Given the description of an element on the screen output the (x, y) to click on. 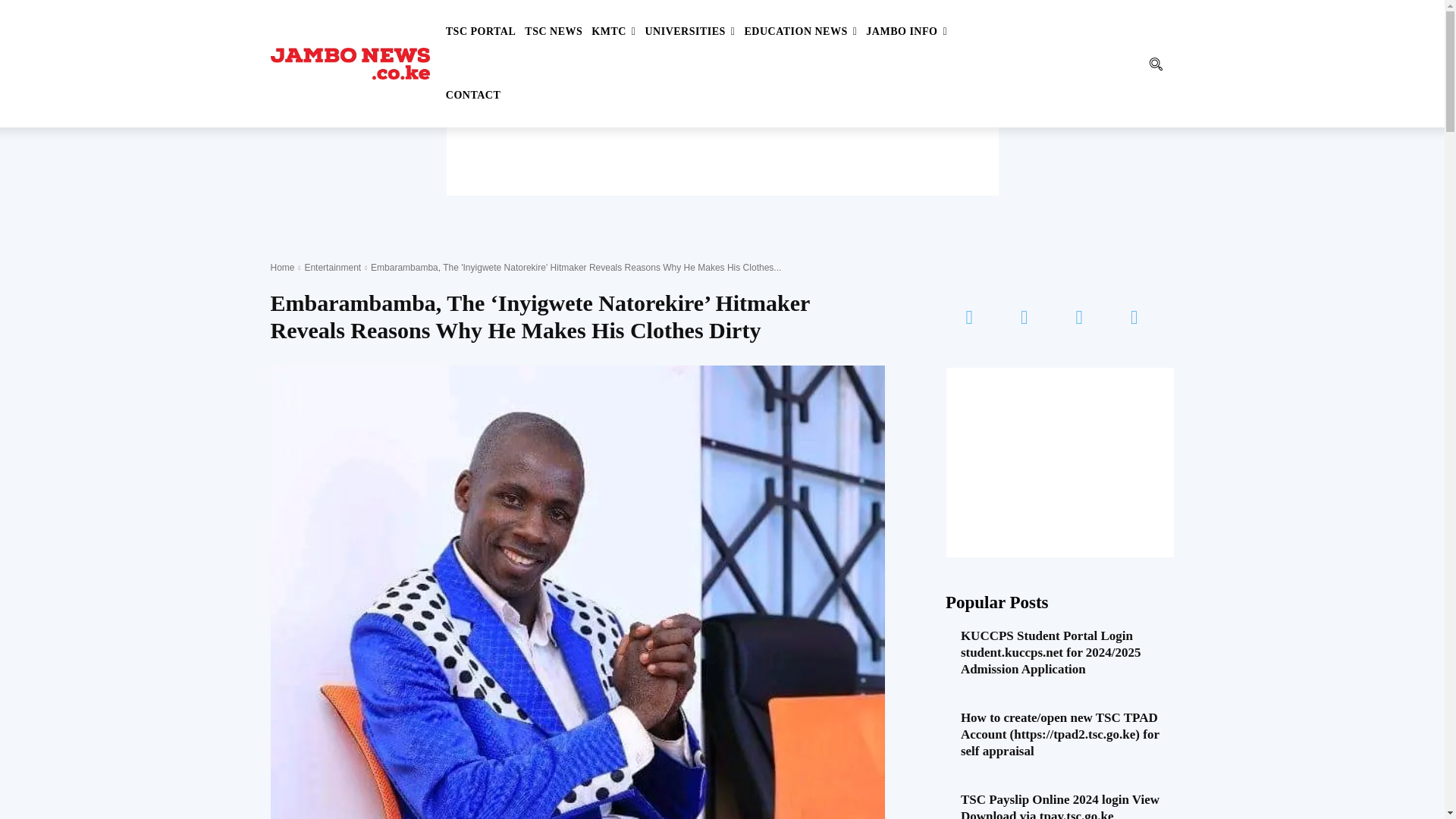
TSC PORTAL (480, 31)
TSC NEWS (553, 31)
UNIVERSITIES (689, 31)
Advertisement (721, 161)
Your Ultimate information Hub (349, 63)
View all posts in Entertainment (332, 267)
